Given the description of an element on the screen output the (x, y) to click on. 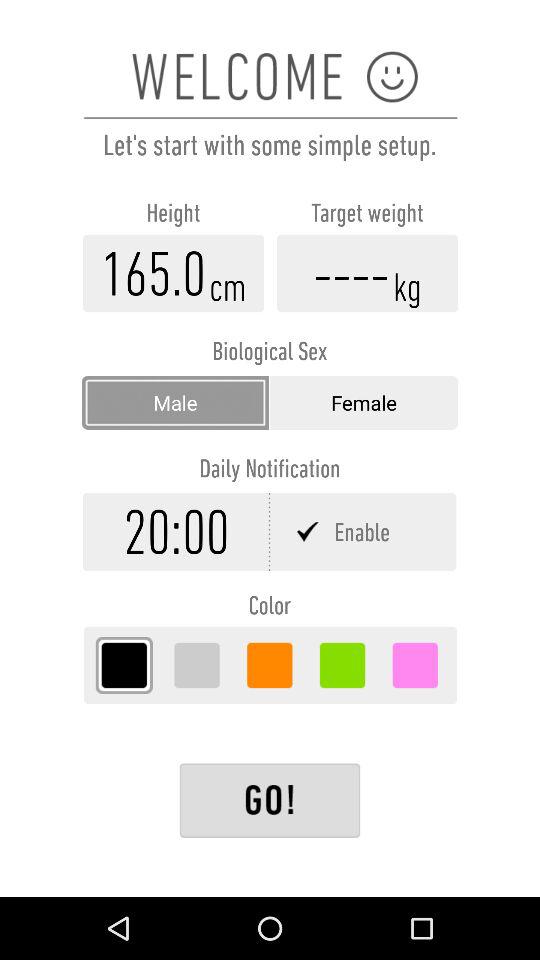
enter time (176, 531)
